Given the description of an element on the screen output the (x, y) to click on. 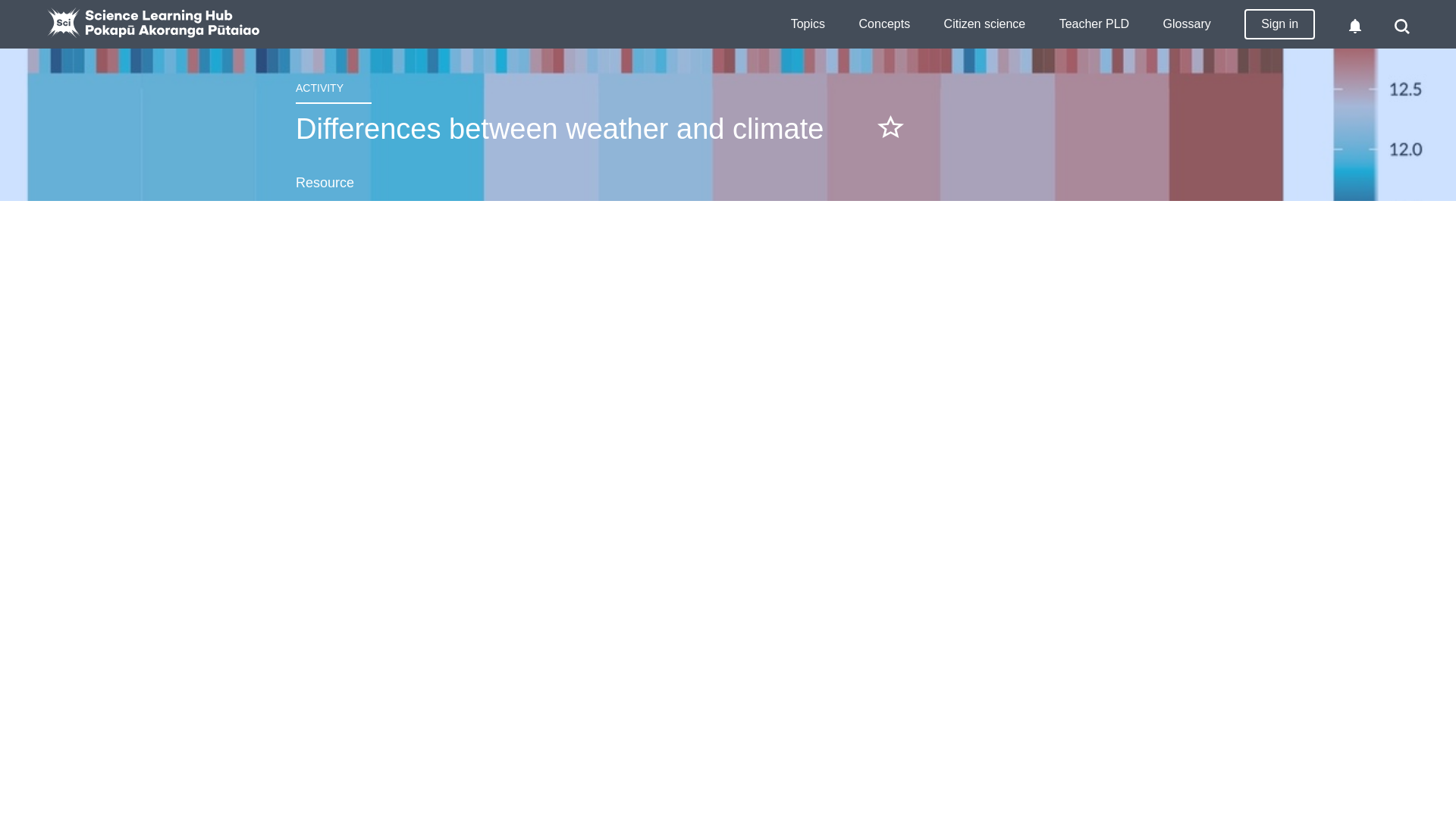
Important science ideas (885, 24)
Sign in (1279, 24)
Search our resources (1402, 26)
Science terms and definitions (1187, 24)
Teacher PLD (1094, 24)
Citizen science projects with curriculum links (984, 24)
Webinars, planning ideas and education research (1094, 24)
Citizen science (984, 24)
Glossary (1187, 24)
Concepts (885, 24)
